Given the description of an element on the screen output the (x, y) to click on. 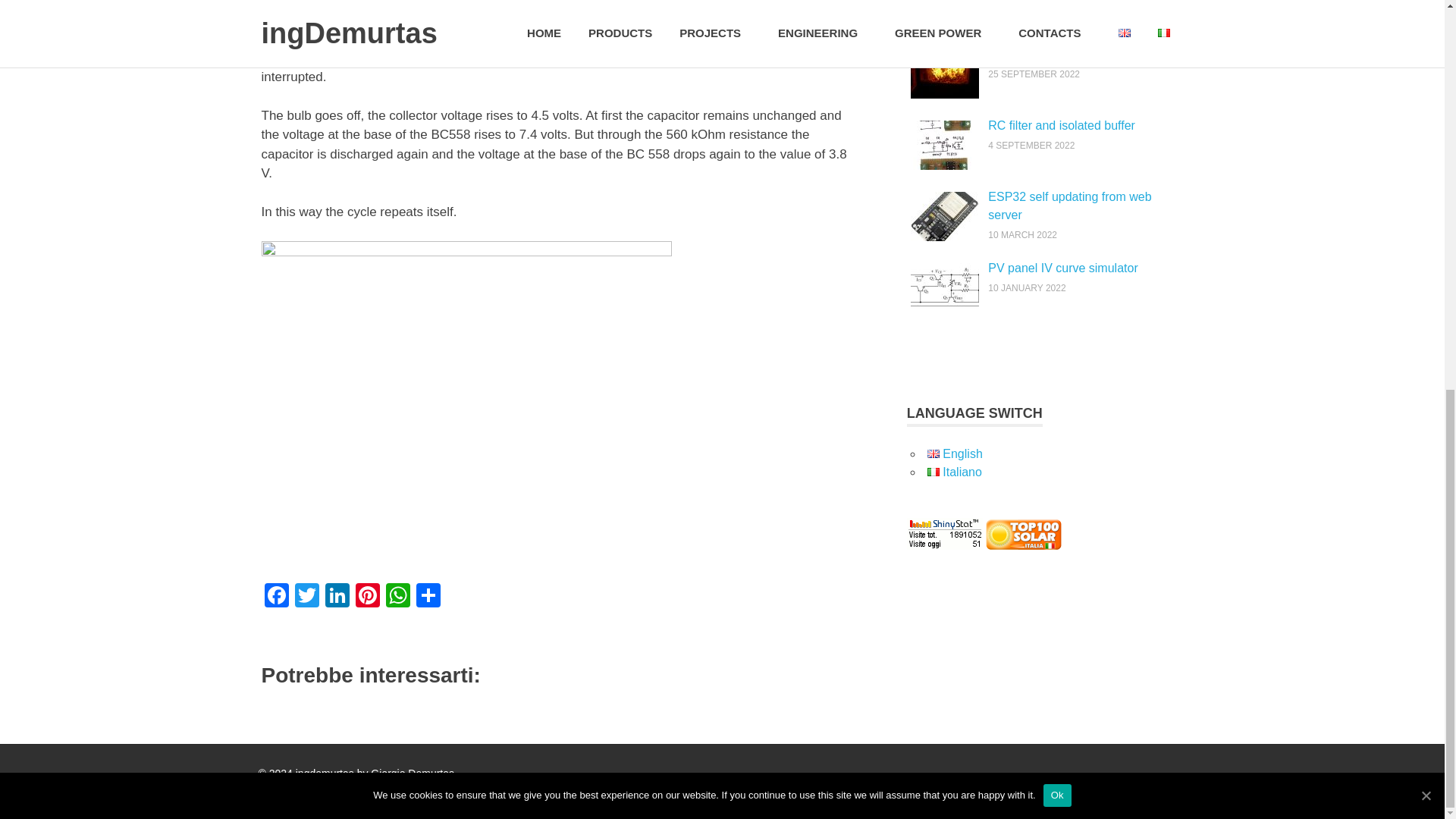
LinkedIn (336, 596)
Twitter (306, 596)
LinkedIn (336, 596)
Pinterest (366, 596)
In tal modo il ciclo si ripete. (358, 211)
Facebook (275, 596)
Facebook (275, 596)
Twitter (306, 596)
3,8 volt. (552, 163)
WhatsApp (396, 596)
